Given the description of an element on the screen output the (x, y) to click on. 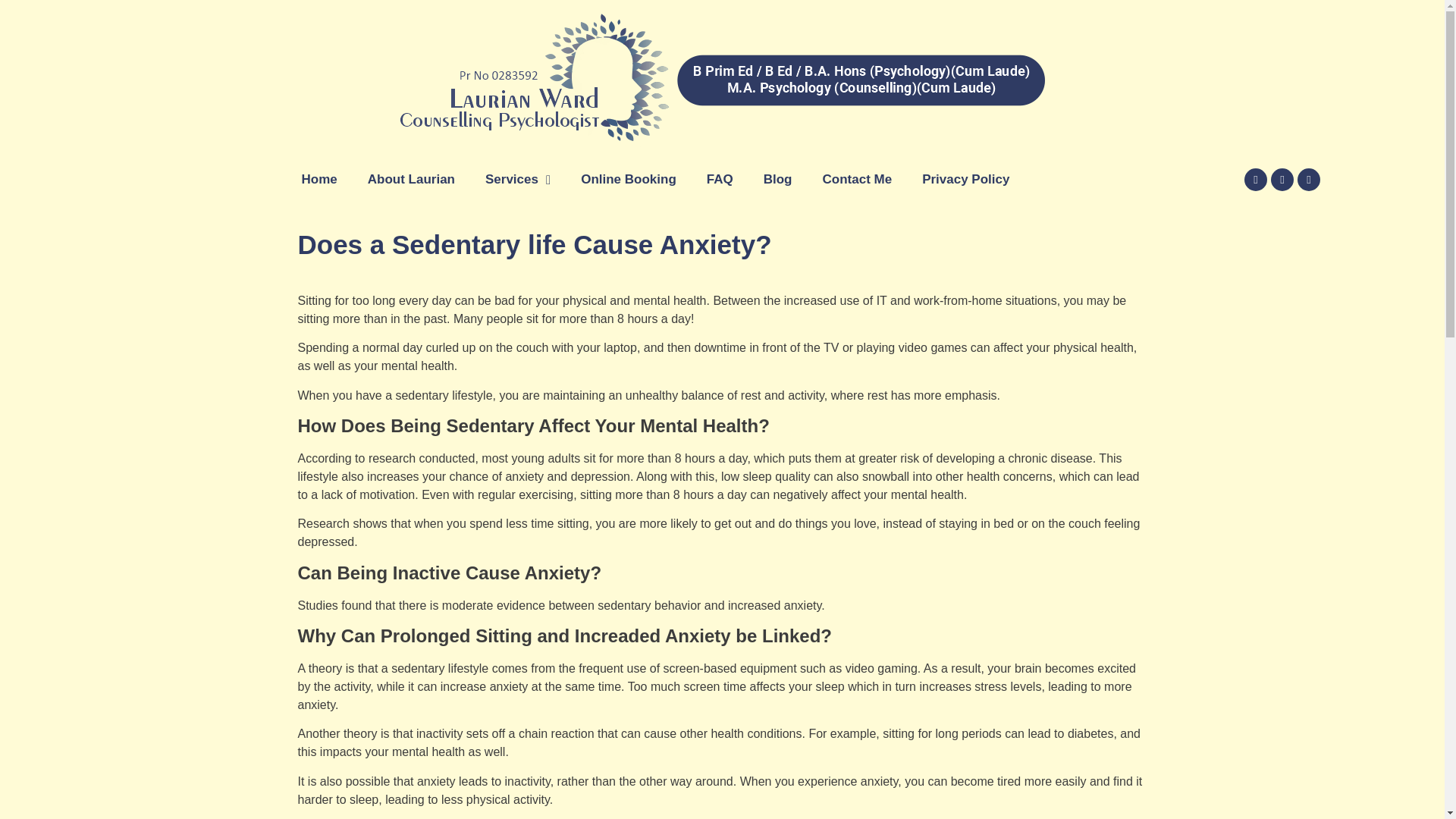
Home (319, 179)
Online Booking (628, 179)
Blog (778, 179)
Services (518, 179)
Privacy Policy (966, 179)
About Laurian (411, 179)
Contact Me (857, 179)
FAQ (719, 179)
